Given the description of an element on the screen output the (x, y) to click on. 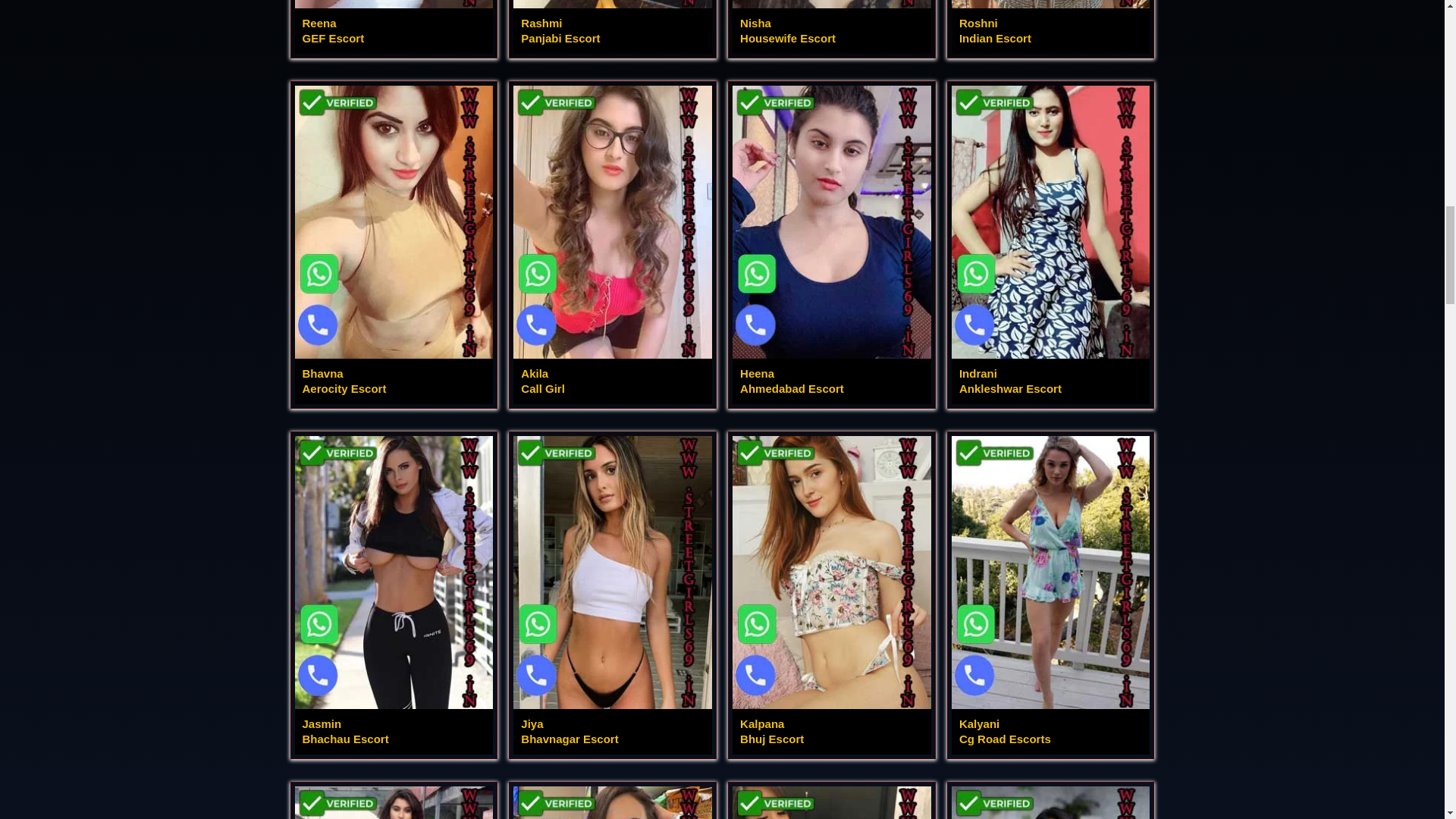
gandhinagar Escorts (393, 244)
ankleshwar Escorts (612, 27)
diu Escorts (393, 27)
ahmedabad Escorts (831, 27)
